Given the description of an element on the screen output the (x, y) to click on. 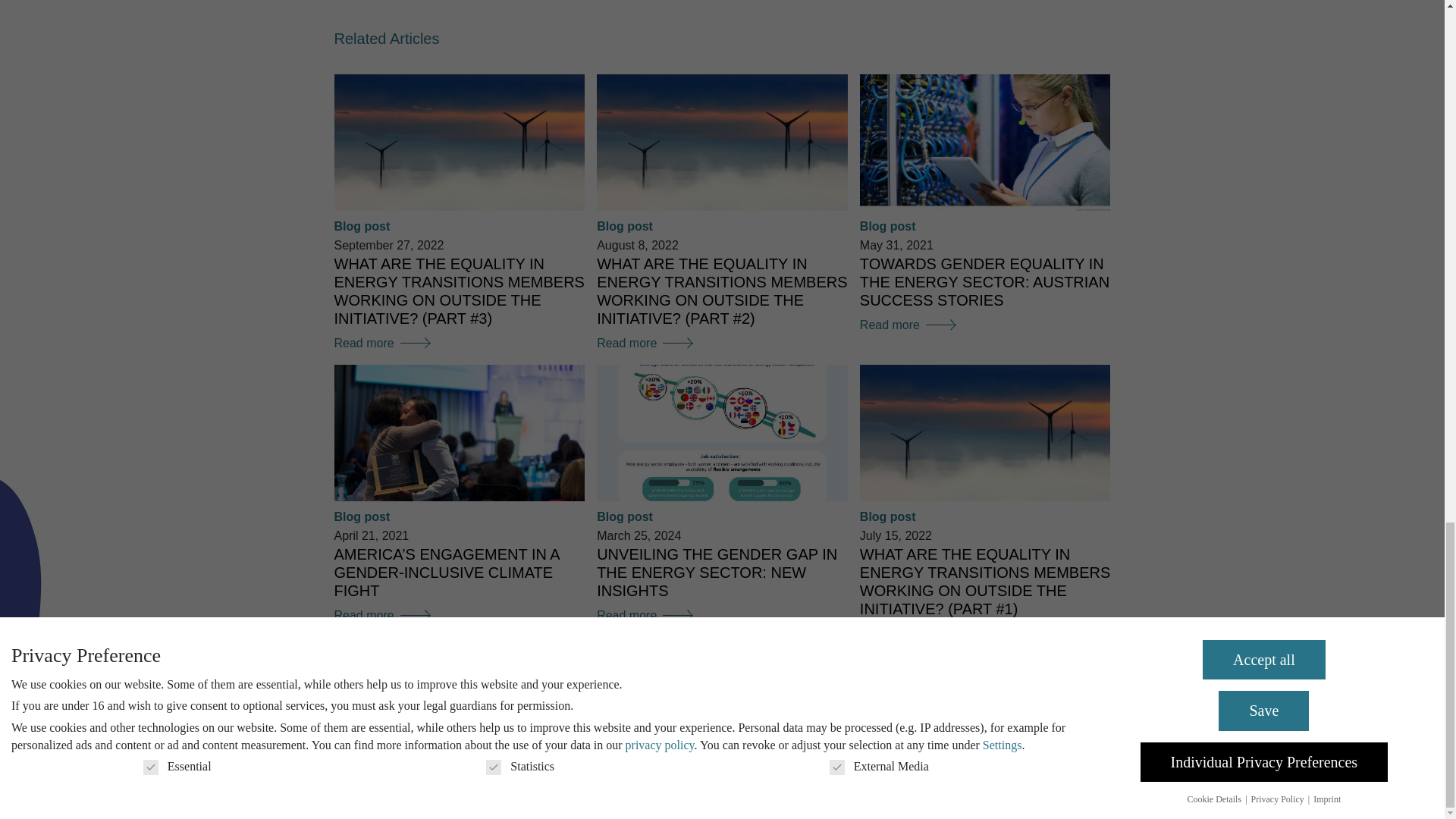
Blog post (361, 226)
Blog post (624, 516)
Blog post (624, 226)
Blog post (361, 516)
Blog post (887, 226)
